Given the description of an element on the screen output the (x, y) to click on. 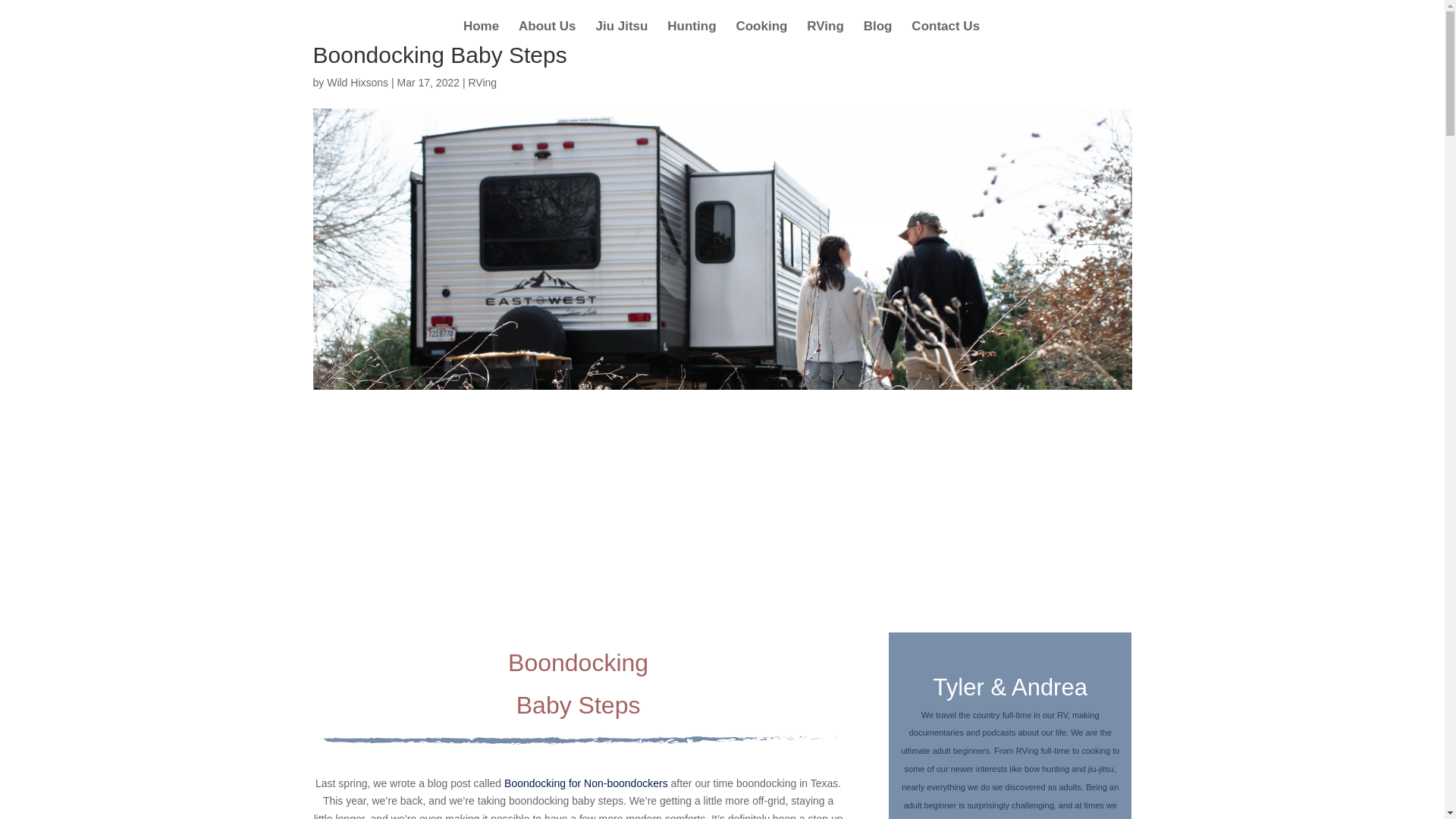
Cooking (761, 35)
Hunting (691, 35)
Contact Us (945, 35)
Jiu Jitsu (621, 35)
Blog (877, 35)
Home (481, 35)
Boondocking for Non-boondockers (585, 783)
RVing (825, 35)
Line-2-04 (578, 735)
RVing (481, 82)
About Us (547, 35)
Wild Hixsons (357, 82)
Posts by Wild Hixsons (357, 82)
